Given the description of an element on the screen output the (x, y) to click on. 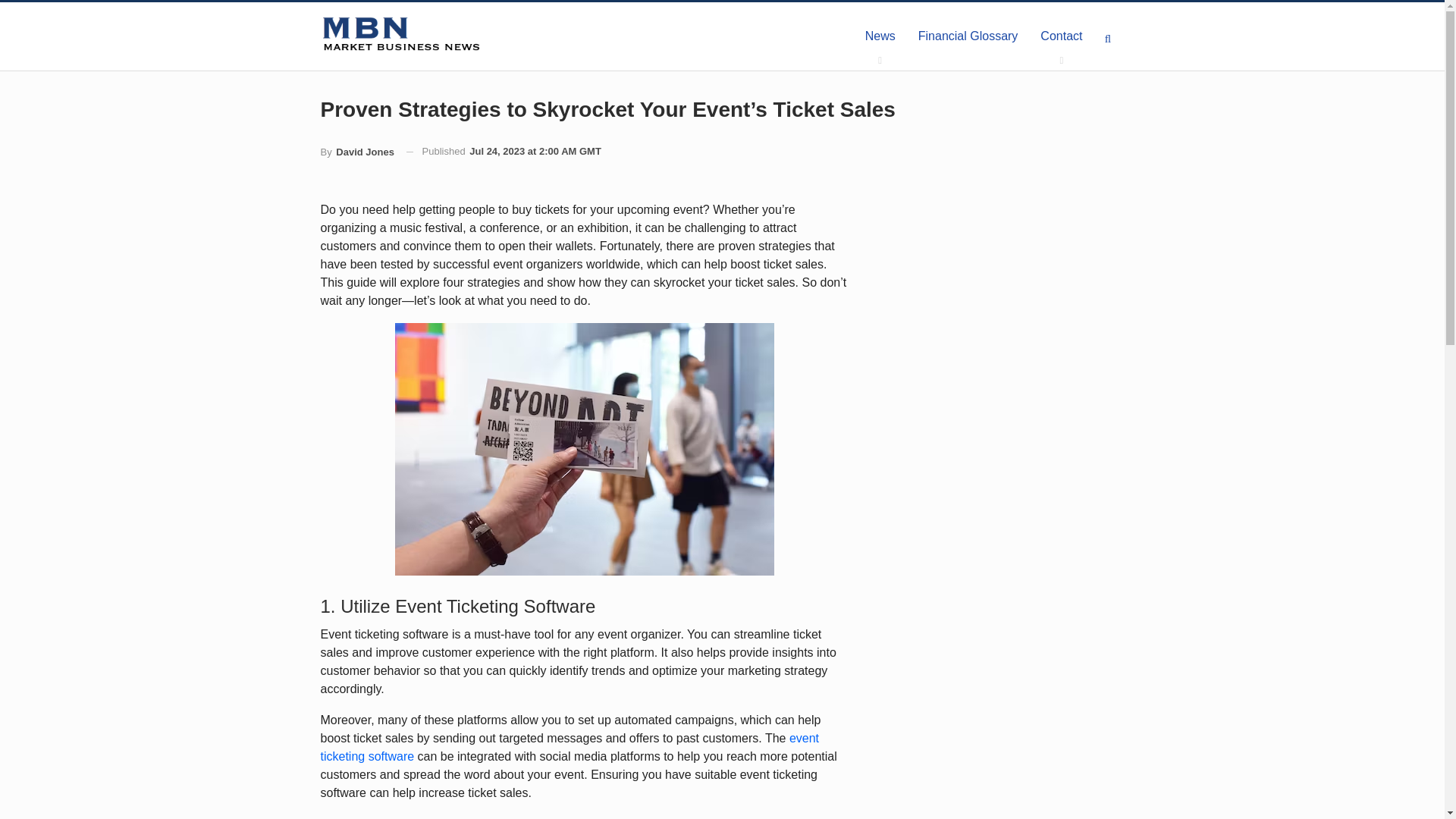
By David Jones (356, 152)
Contact (1061, 36)
Browse Author Articles (356, 152)
Financial Glossary (968, 36)
event ticketing software (569, 747)
